Given the description of an element on the screen output the (x, y) to click on. 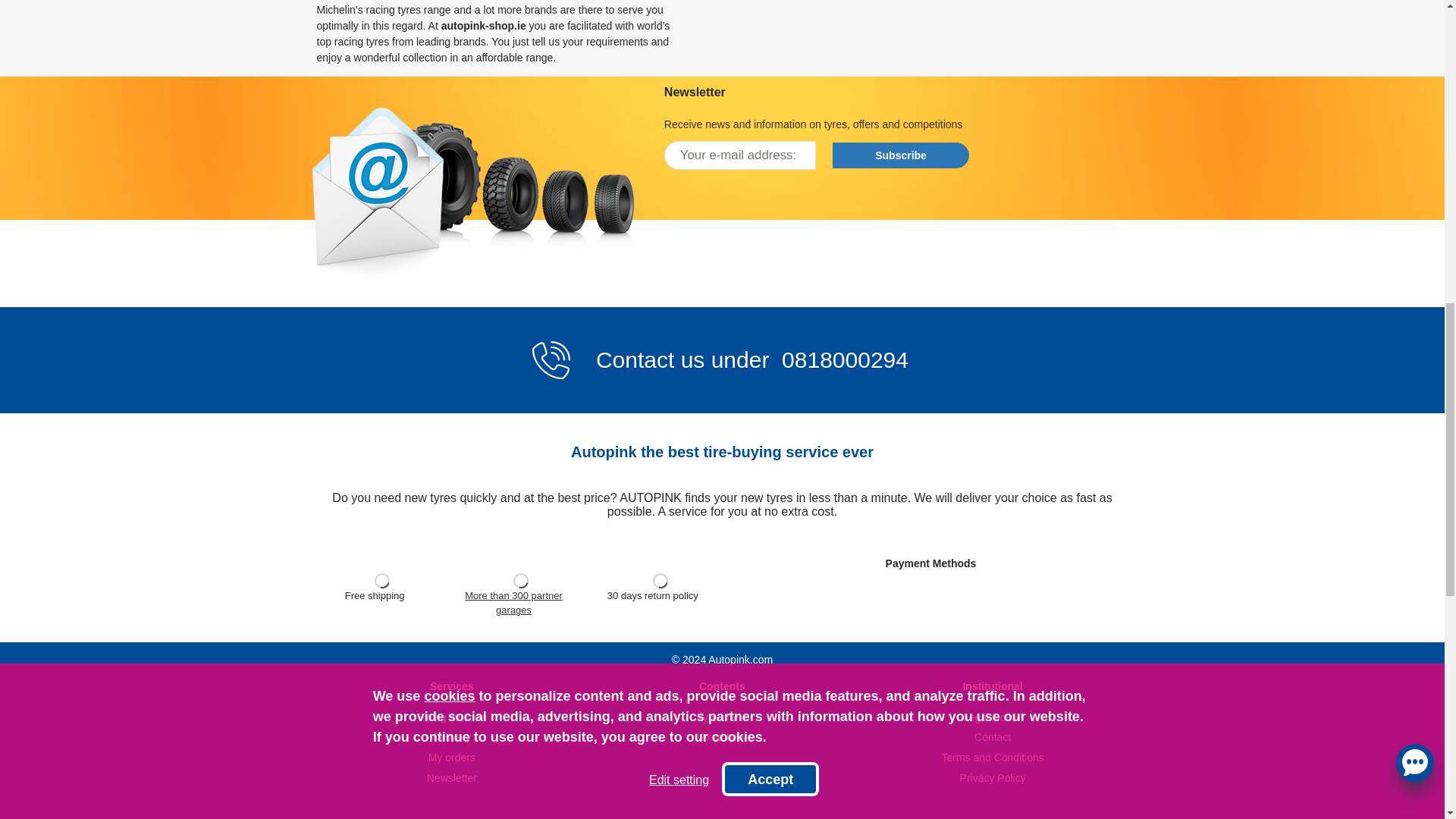
Subscribe (900, 155)
